Given the description of an element on the screen output the (x, y) to click on. 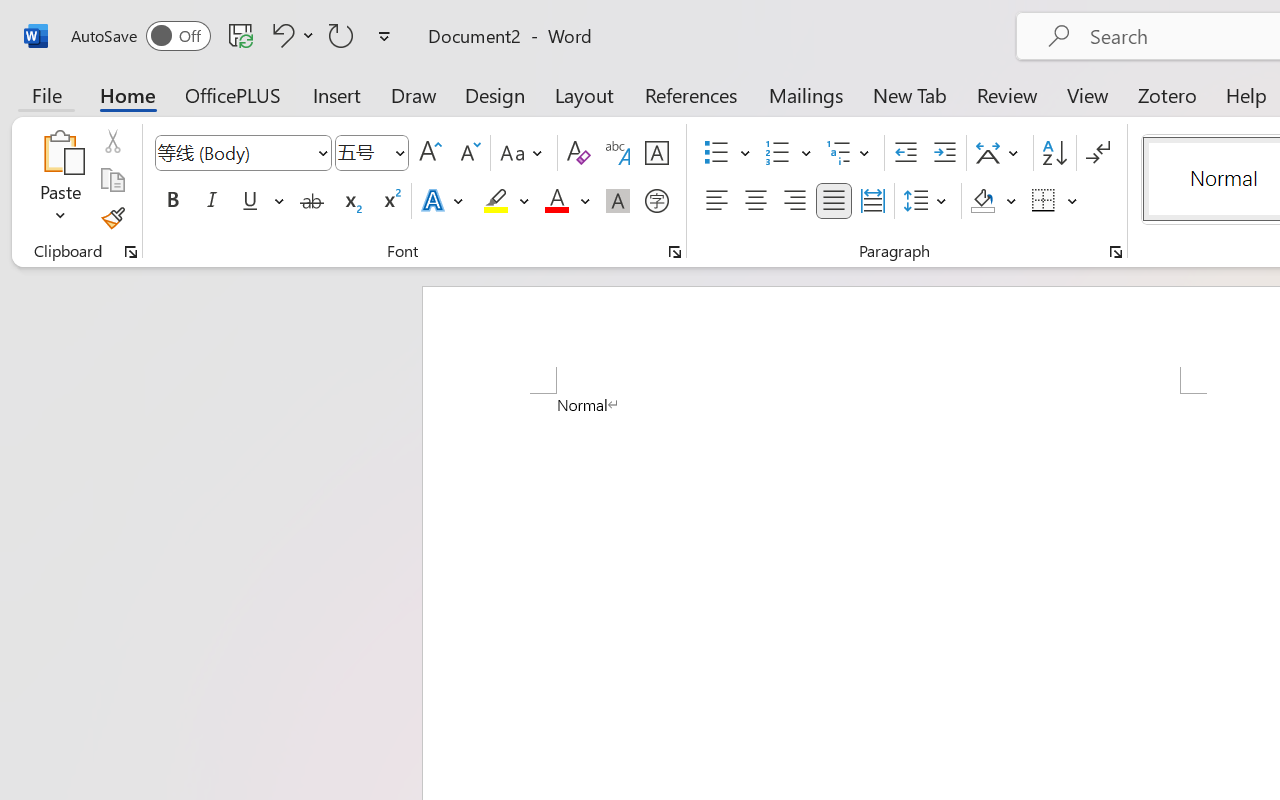
Numbering (788, 153)
Shading RGB(0, 0, 0) (982, 201)
